Given the description of an element on the screen output the (x, y) to click on. 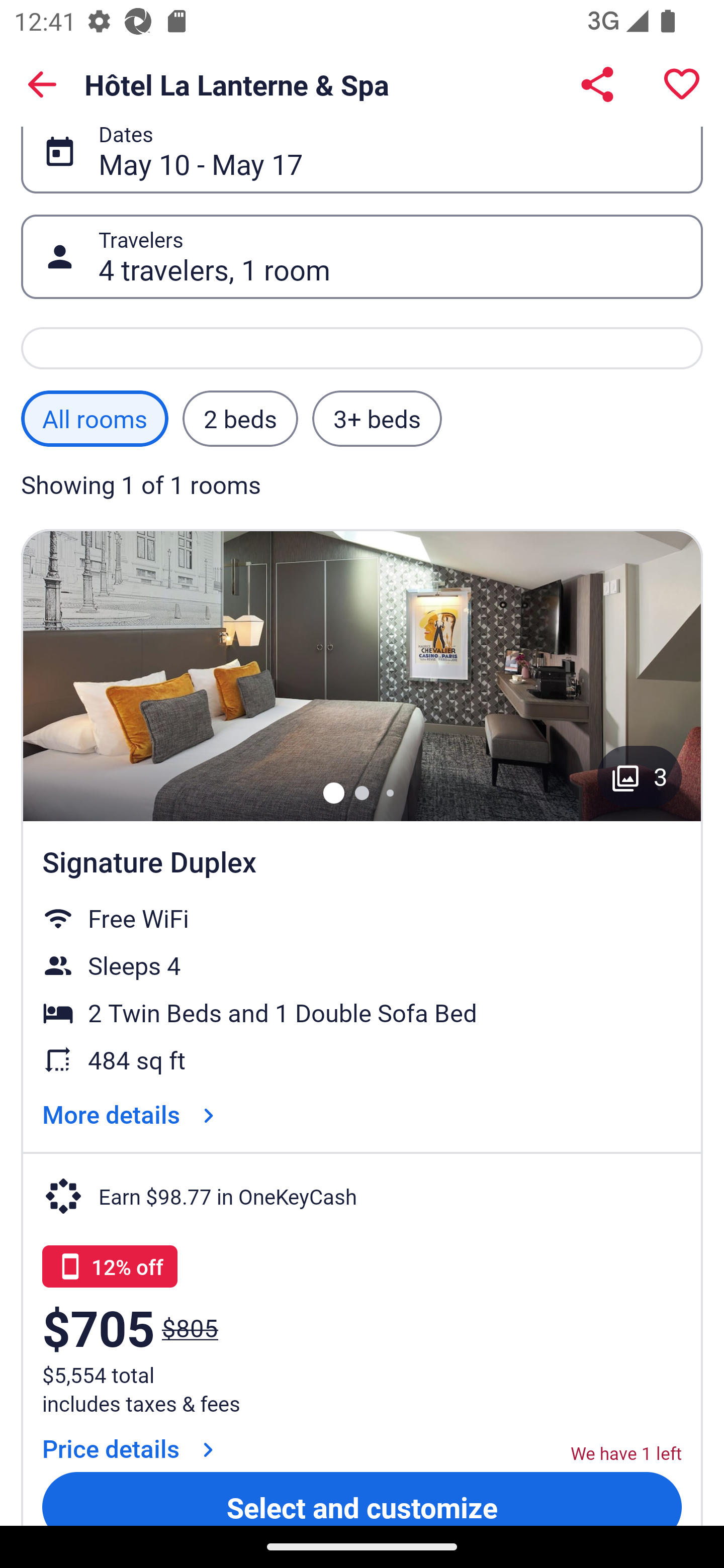
Back (42, 84)
Save property to a trip (681, 84)
Share Hôtel La Lanterne & Spa (597, 84)
May 10 - May 17 (390, 151)
4 travelers, 1 room (390, 256)
All rooms (94, 418)
2 beds (240, 418)
3+ beds (376, 418)
Signature Duplex | Living area | Flat-screen TV (361, 675)
Gallery button with 3 images (639, 775)
$805 The price was $805 (189, 1327)
